Given the description of an element on the screen output the (x, y) to click on. 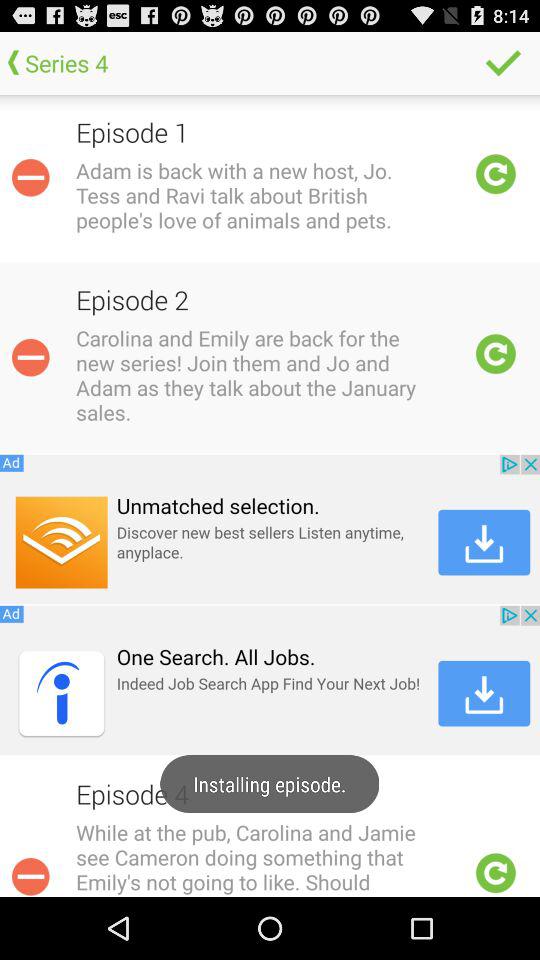
download app of indeed (270, 680)
